Given the description of an element on the screen output the (x, y) to click on. 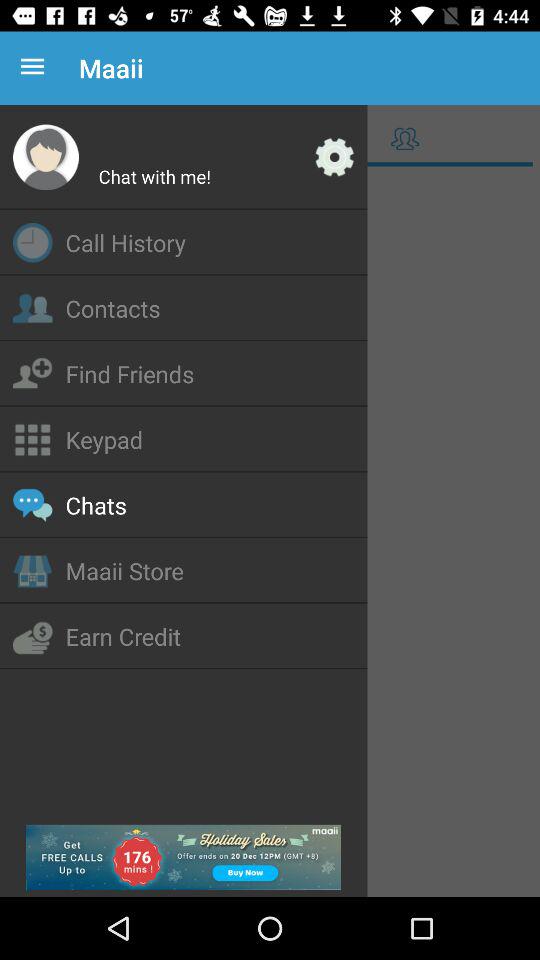
press the icon next to the maaii icon (36, 68)
